Given the description of an element on the screen output the (x, y) to click on. 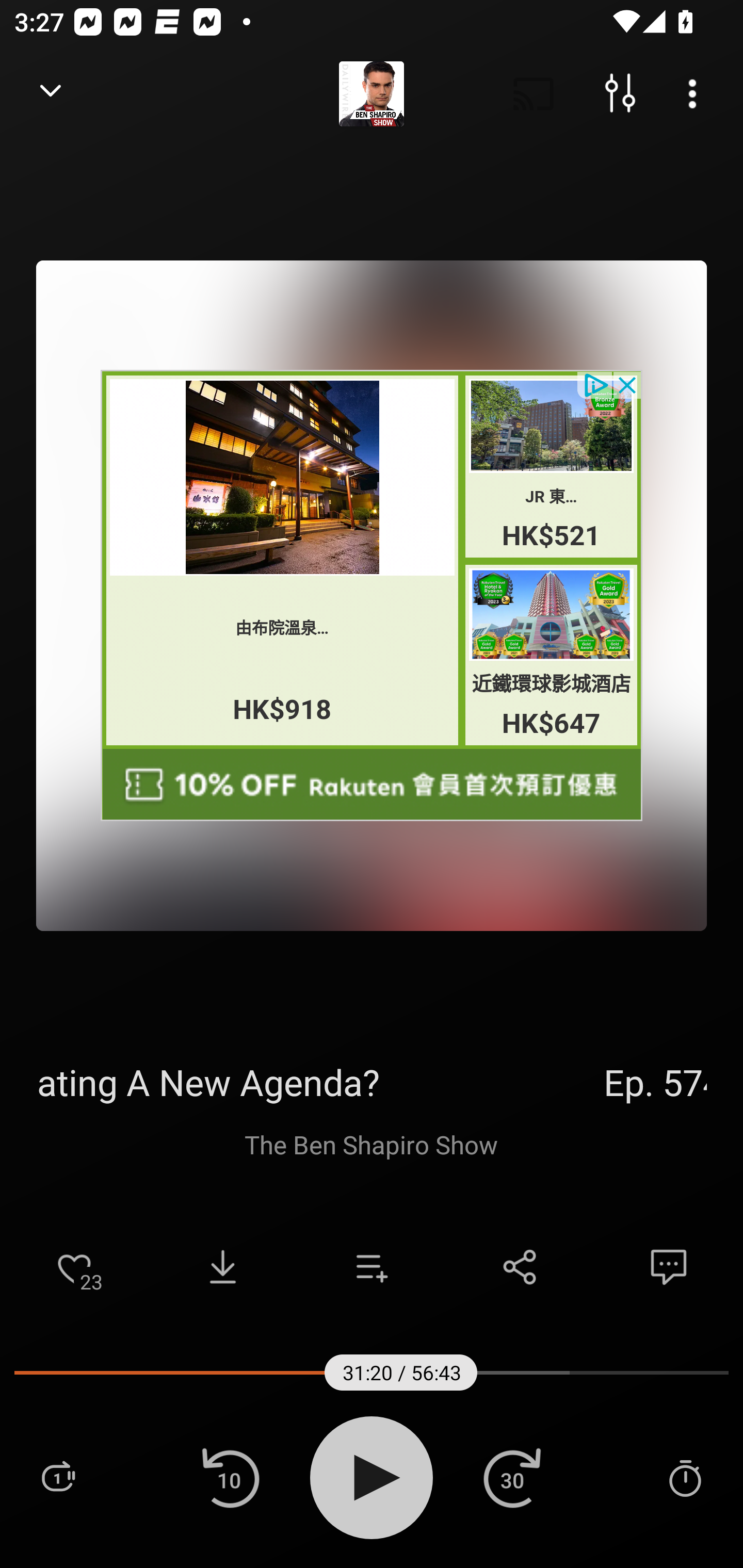
Cast. Disconnected (533, 93)
 Back (50, 94)
privacy_small (595, 384)
close_button (627, 384)
 由布院溫泉由布院山水館 HK$918    由布院溫泉… HK$918 (281, 559)
 JR 東日本大都會大飯店東京城 HK$521    JR 東日本大都會大飯店東京城 HK$521 (551, 466)
 近鐵環… HK$647    近鐵環… HK$647 (551, 655)
   (371, 785)
Ep. 574 - Is The Left Creating A New Agenda? (371, 1081)
The Ben Shapiro Show (371, 1144)
23 Add to Favorites (74, 1266)
Comments (668, 1266)
Add to Favorites (73, 1266)
Share (519, 1266)
 Playlist (57, 1477)
Sleep Timer  (684, 1477)
